Given the description of an element on the screen output the (x, y) to click on. 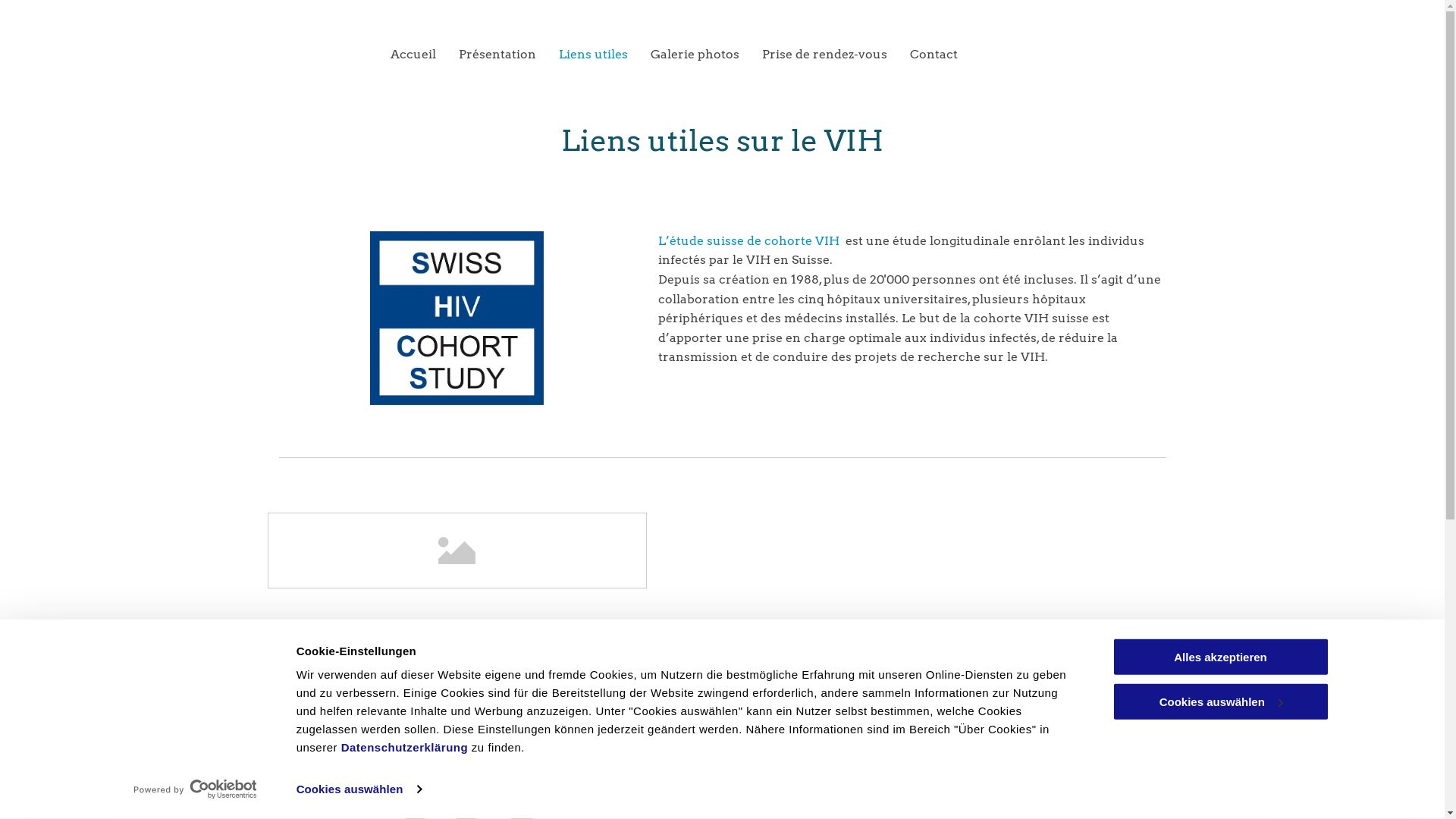
Liens utiles Element type: text (581, 54)
Contact Element type: text (922, 54)
Accueil Element type: text (401, 54)
Galerie photos Element type: text (683, 54)
Prise de rendez-vous Element type: text (813, 54)
Alles akzeptieren Element type: text (1219, 656)
